Given the description of an element on the screen output the (x, y) to click on. 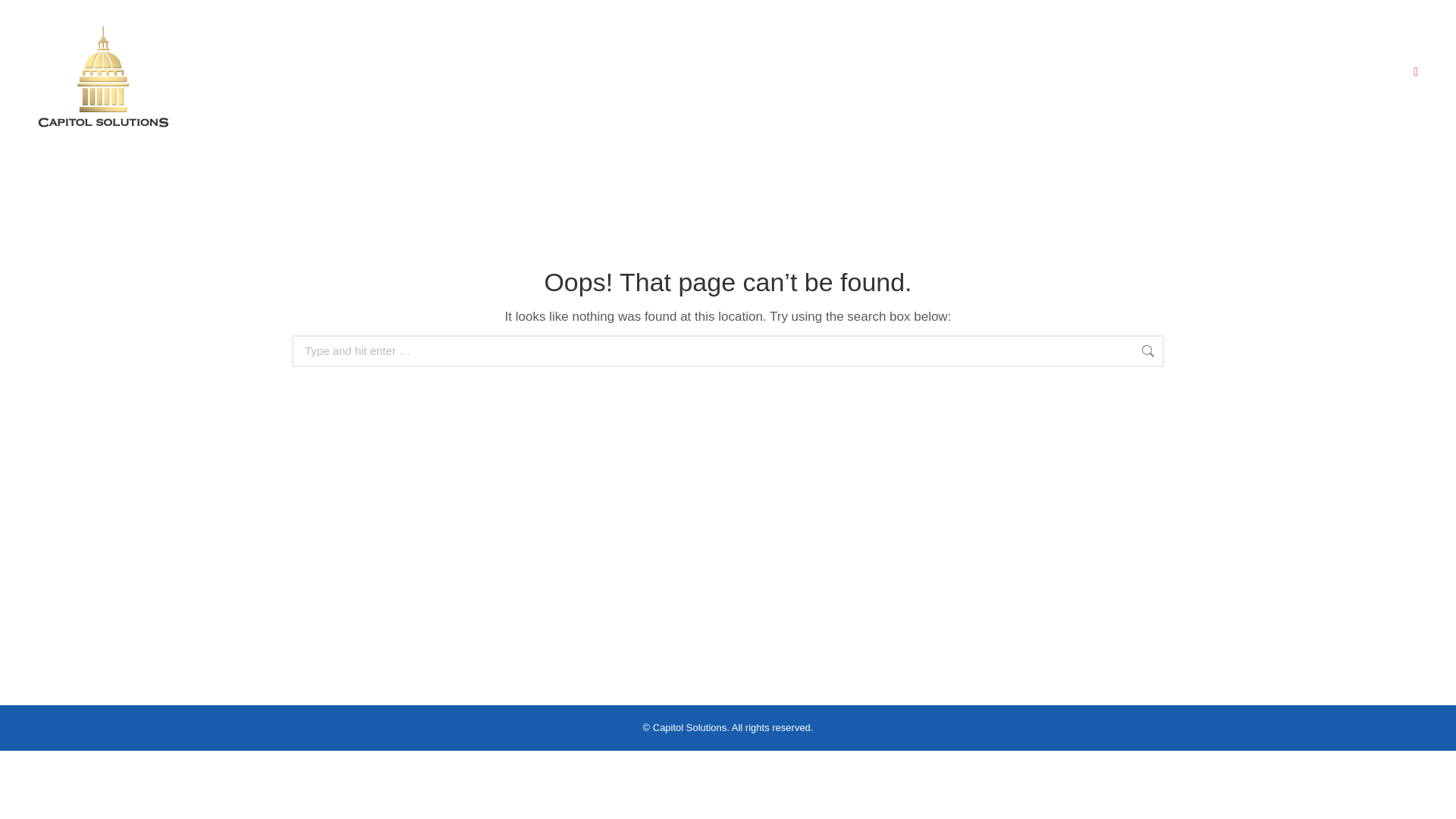
Go! (1188, 352)
CLIENTS (783, 72)
RESOURCES (870, 72)
OUR FIRM (622, 72)
Go! (24, 17)
SERVICES (704, 72)
CONTACT (959, 72)
Go! (1188, 352)
